Given the description of an element on the screen output the (x, y) to click on. 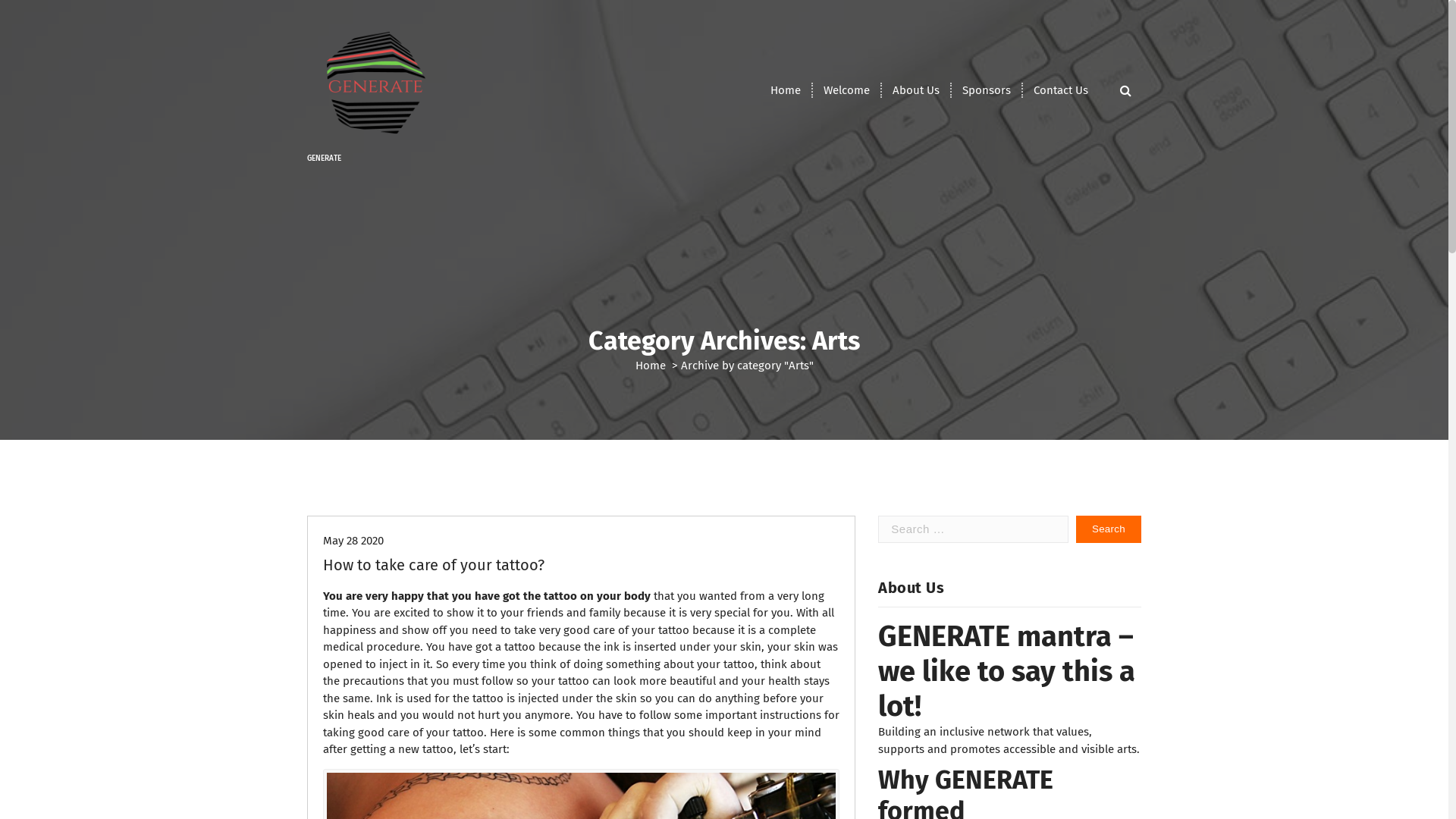
May 28 2020 Element type: text (353, 540)
Welcome Element type: text (846, 89)
Contact Us Element type: text (1060, 89)
About Us Element type: text (915, 89)
Home Element type: text (650, 365)
Search Element type: text (1108, 529)
Home Element type: text (785, 89)
How to take care of your tattoo? Element type: text (433, 564)
Sponsors Element type: text (986, 89)
